Given the description of an element on the screen output the (x, y) to click on. 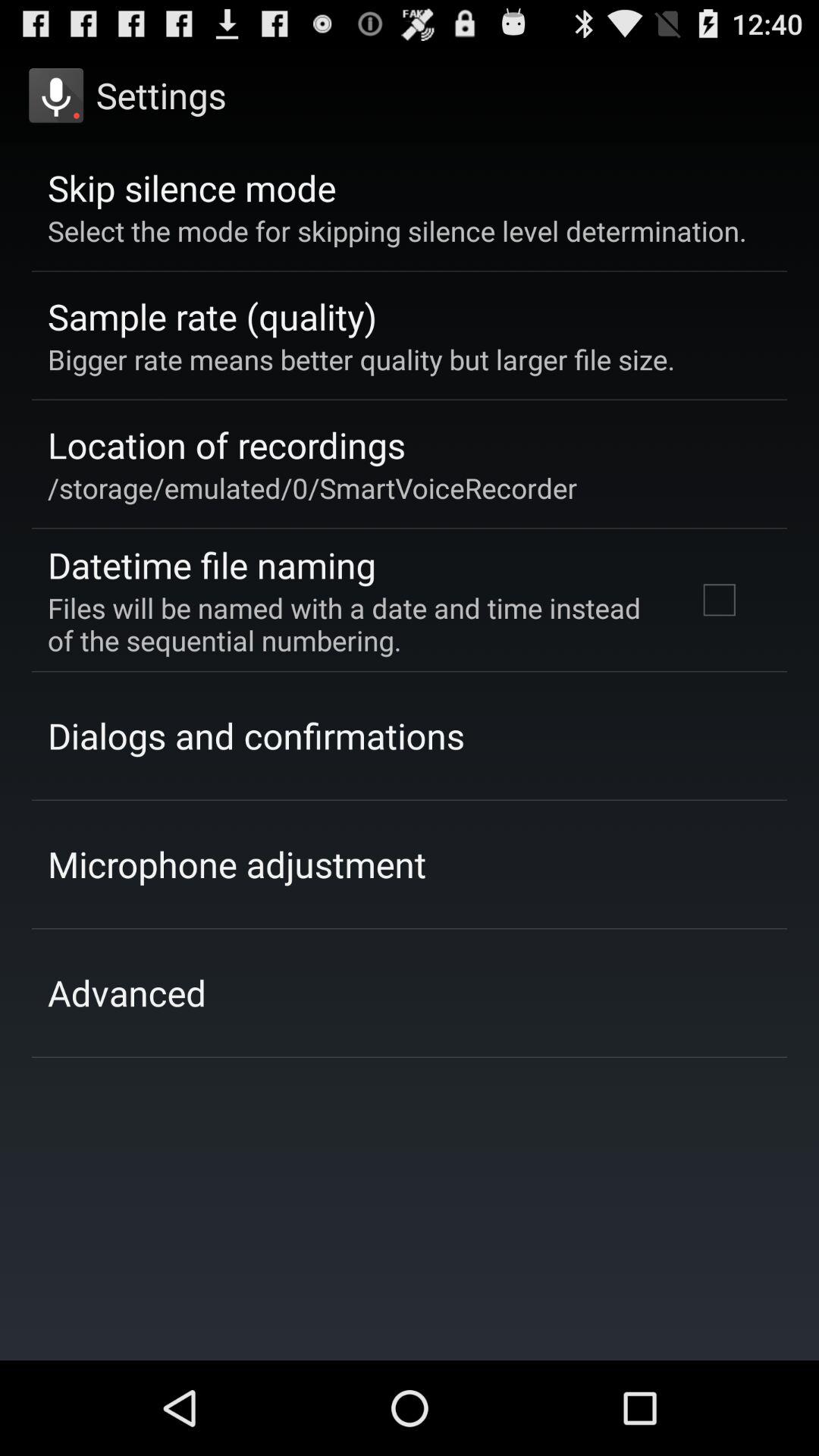
open item above the sample rate (quality) item (396, 230)
